Given the description of an element on the screen output the (x, y) to click on. 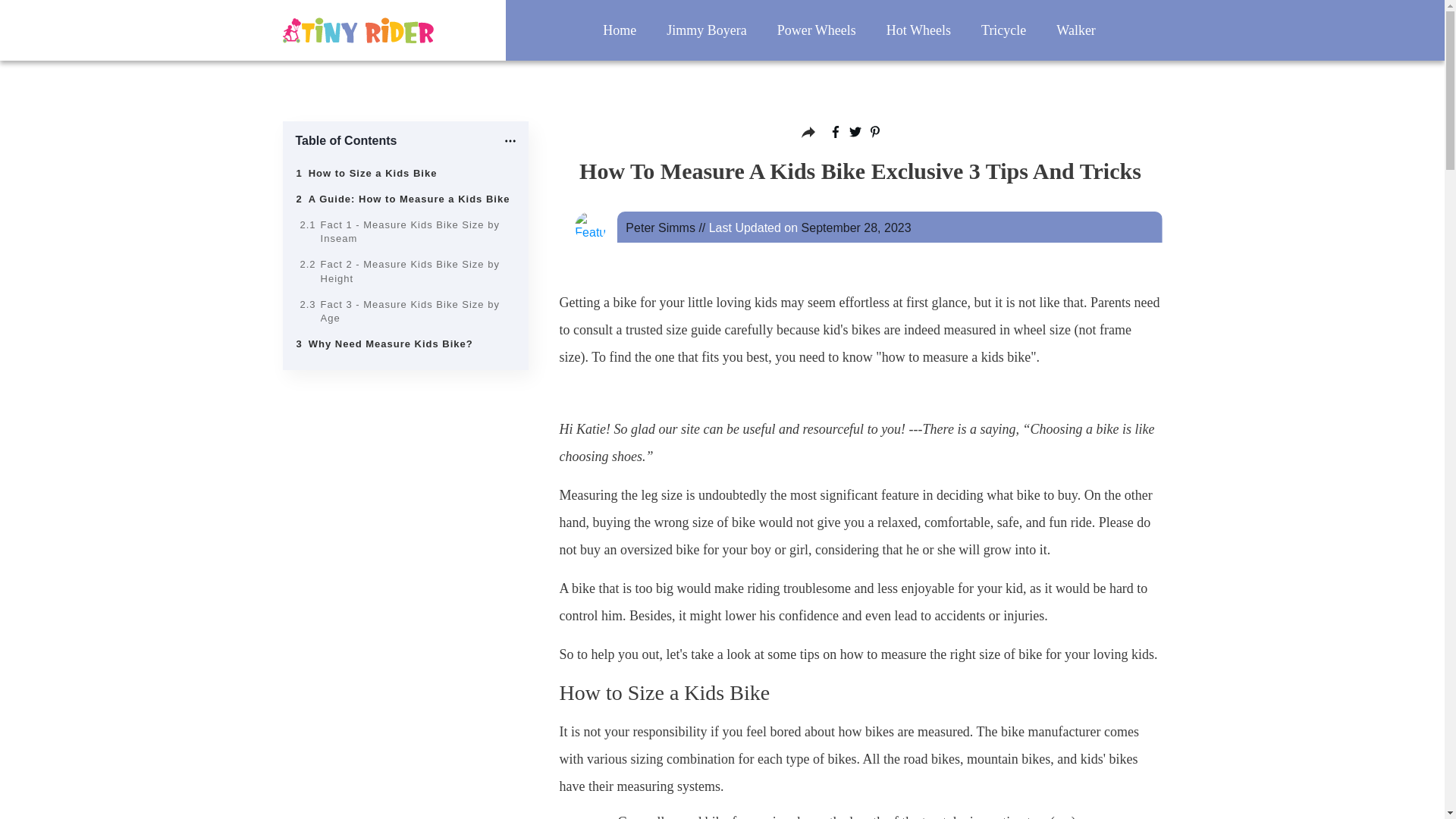
Featured Image Without Sidebar (590, 226)
Fact 1 - Measure Kids Bike Size by Inseam (415, 231)
Walker (1076, 30)
Power Wheels (816, 30)
Why Need Measure Kids Bike? (390, 344)
A Guide: How to Measure a Kids Bike (409, 199)
Fact 2 - Measure Kids Bike Size by Height (415, 271)
Hot Wheels (918, 30)
Why Need Measure Kids Bike? (390, 344)
How to Size a Kids Bike (373, 173)
